Given the description of an element on the screen output the (x, y) to click on. 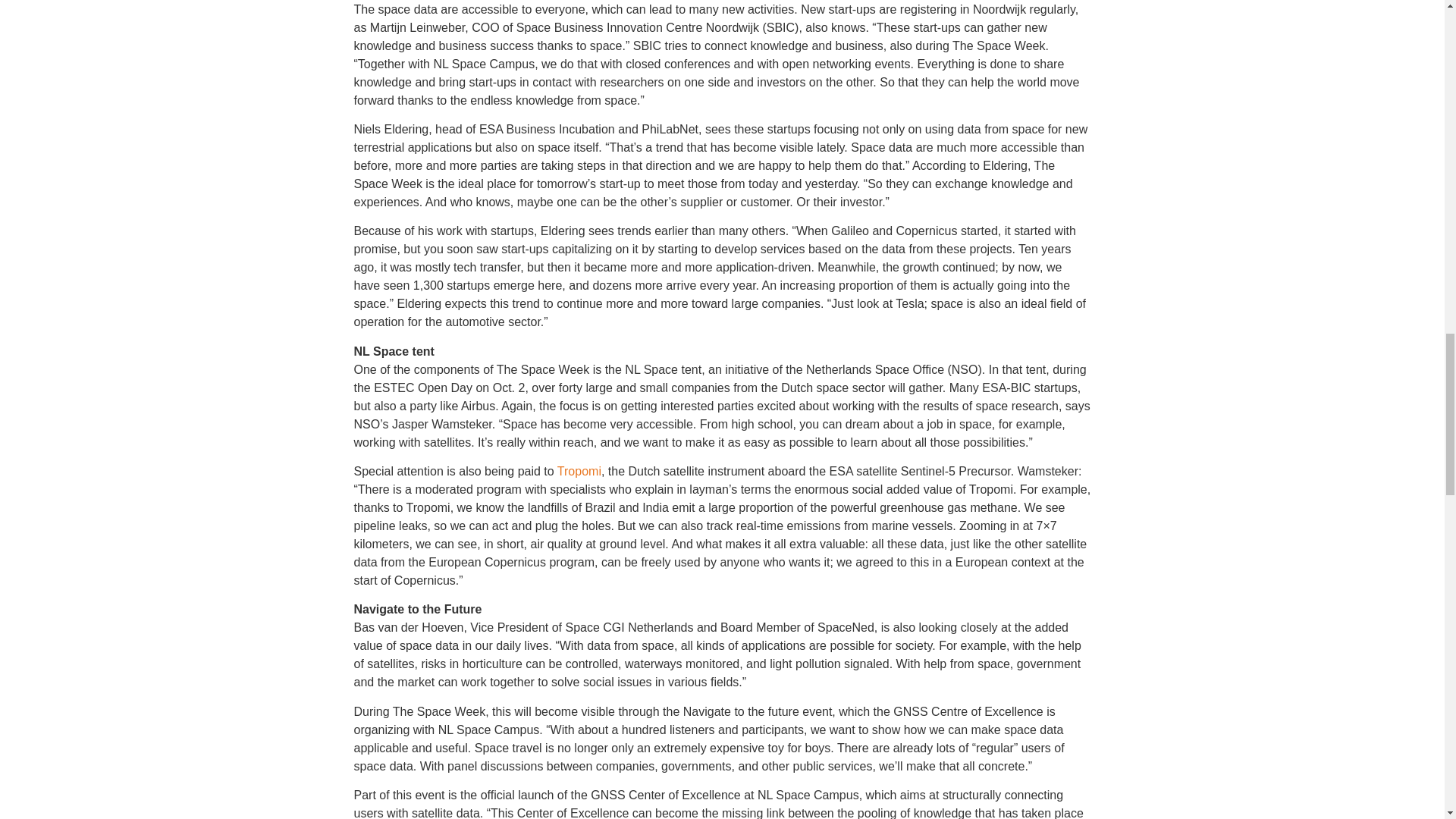
Tropomi (579, 471)
